Given the description of an element on the screen output the (x, y) to click on. 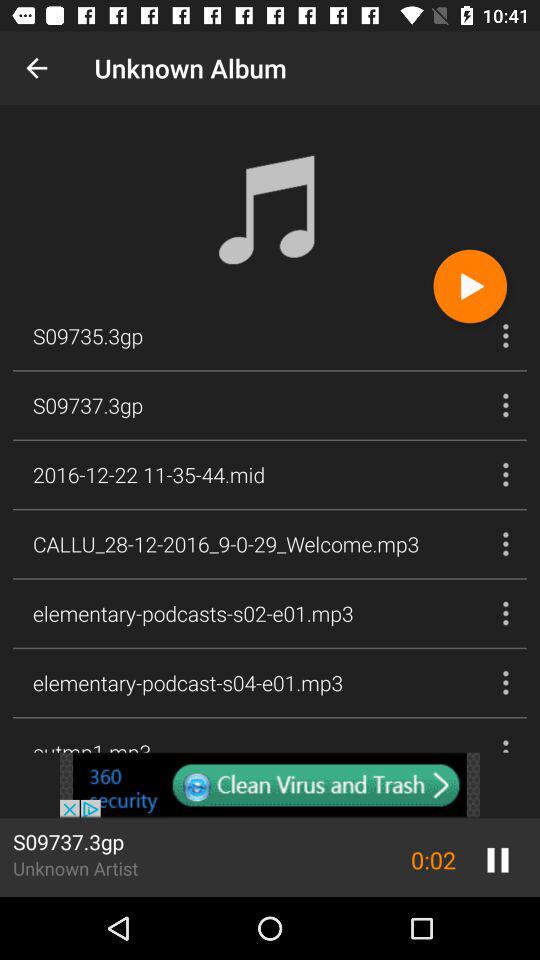
go to as (270, 785)
